Given the description of an element on the screen output the (x, y) to click on. 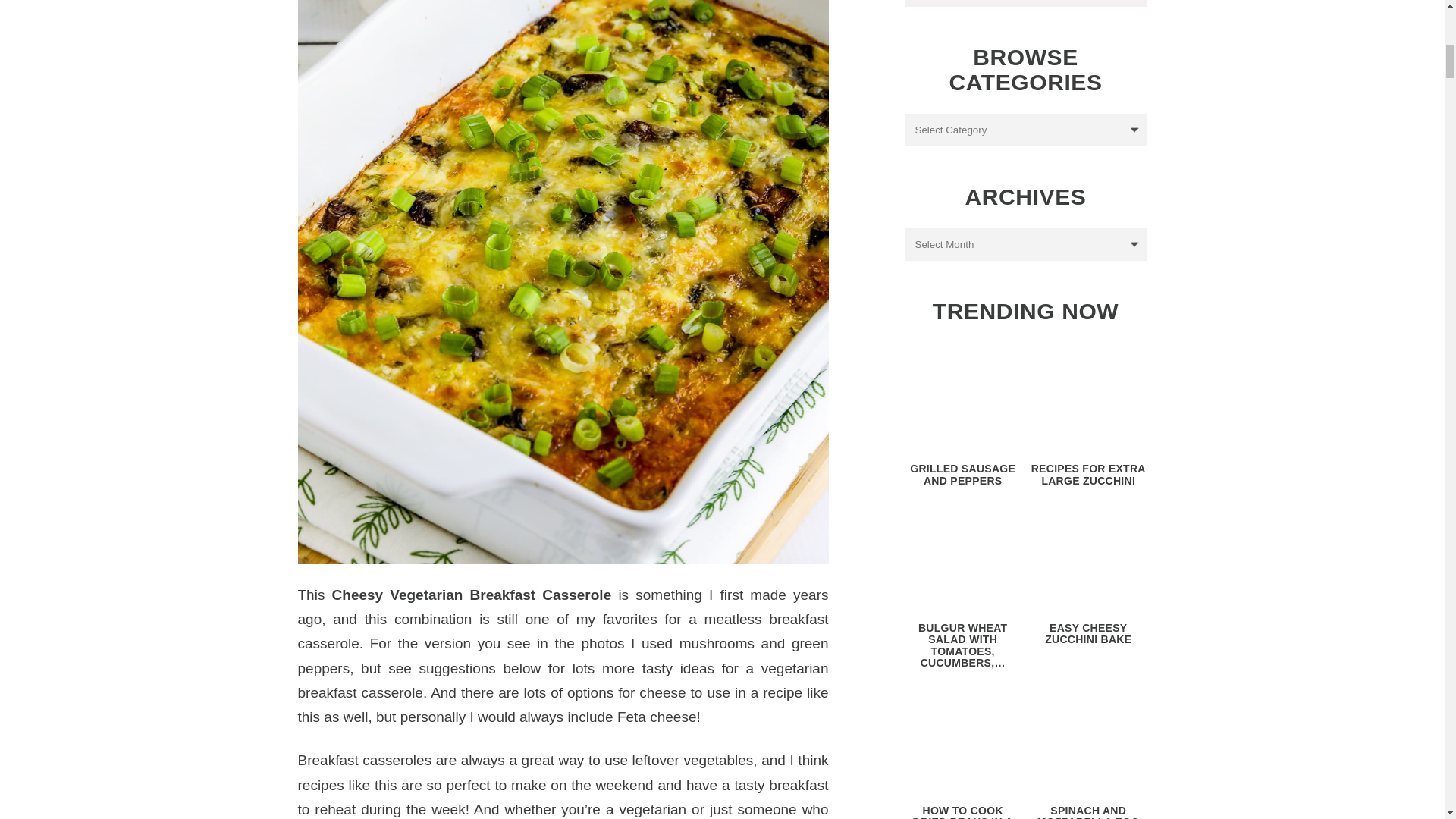
Grilled Sausage and Peppers (963, 401)
Recipes for Extra Large Zucchini (1088, 401)
Easy Cheesy Zucchini Bake (1088, 560)
